Given the description of an element on the screen output the (x, y) to click on. 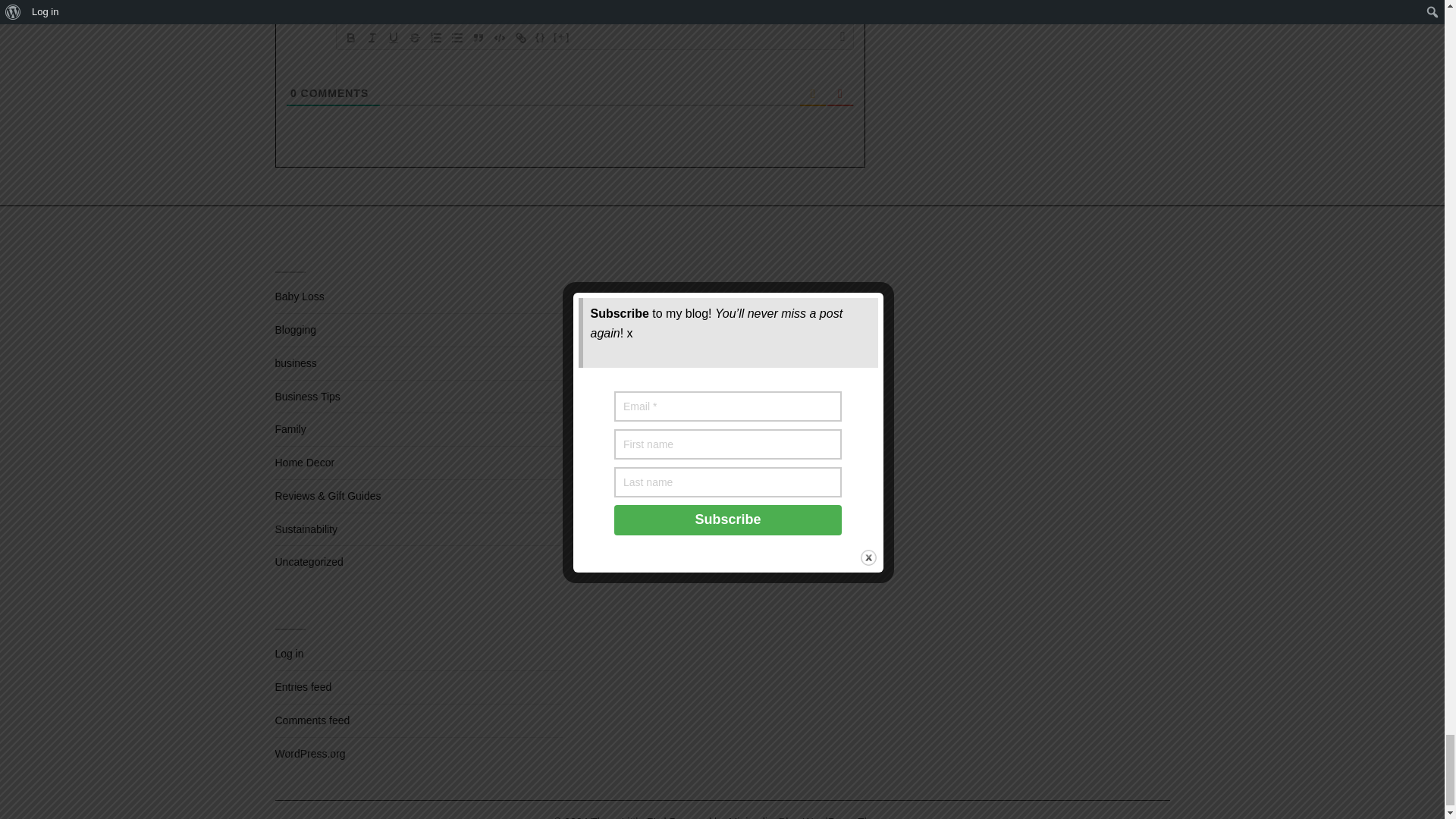
Ordered List (435, 37)
Bold (350, 37)
bullet (456, 37)
ordered (435, 37)
Underline (393, 37)
Strike (414, 37)
Italic (371, 37)
